Given the description of an element on the screen output the (x, y) to click on. 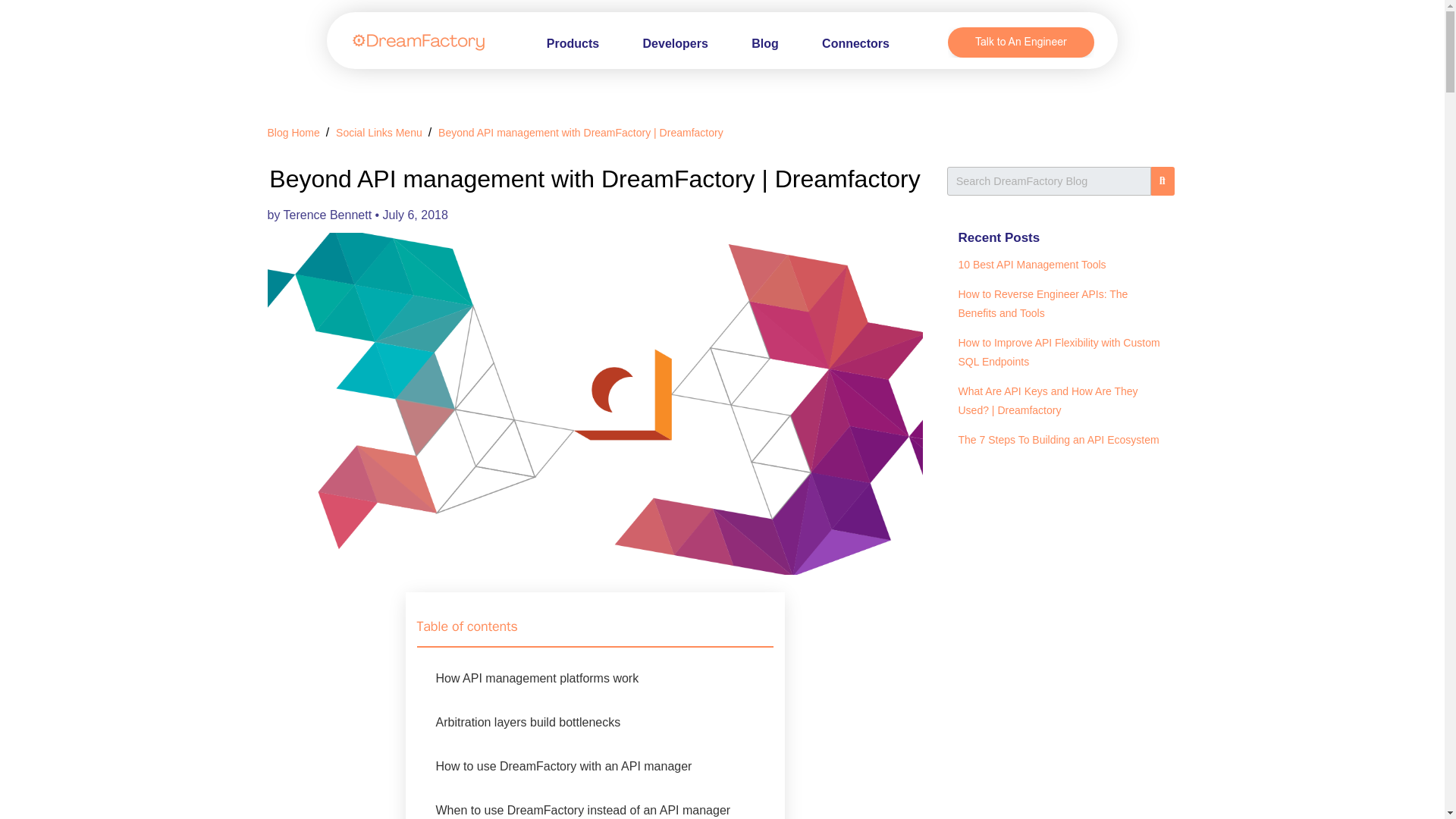
When to use DreamFactory instead of an API manager (582, 809)
Products (572, 42)
Social Links Menu (379, 132)
Blog (764, 42)
How to use DreamFactory with an API manager (563, 766)
10 Best API Management Tools (1032, 264)
How to Reverse Engineer APIs: The Benefits and Tools (1043, 303)
Blog Home (292, 132)
The 7 Steps To Building an API Ecosystem (1058, 439)
How API management platforms work (537, 677)
